Given the description of an element on the screen output the (x, y) to click on. 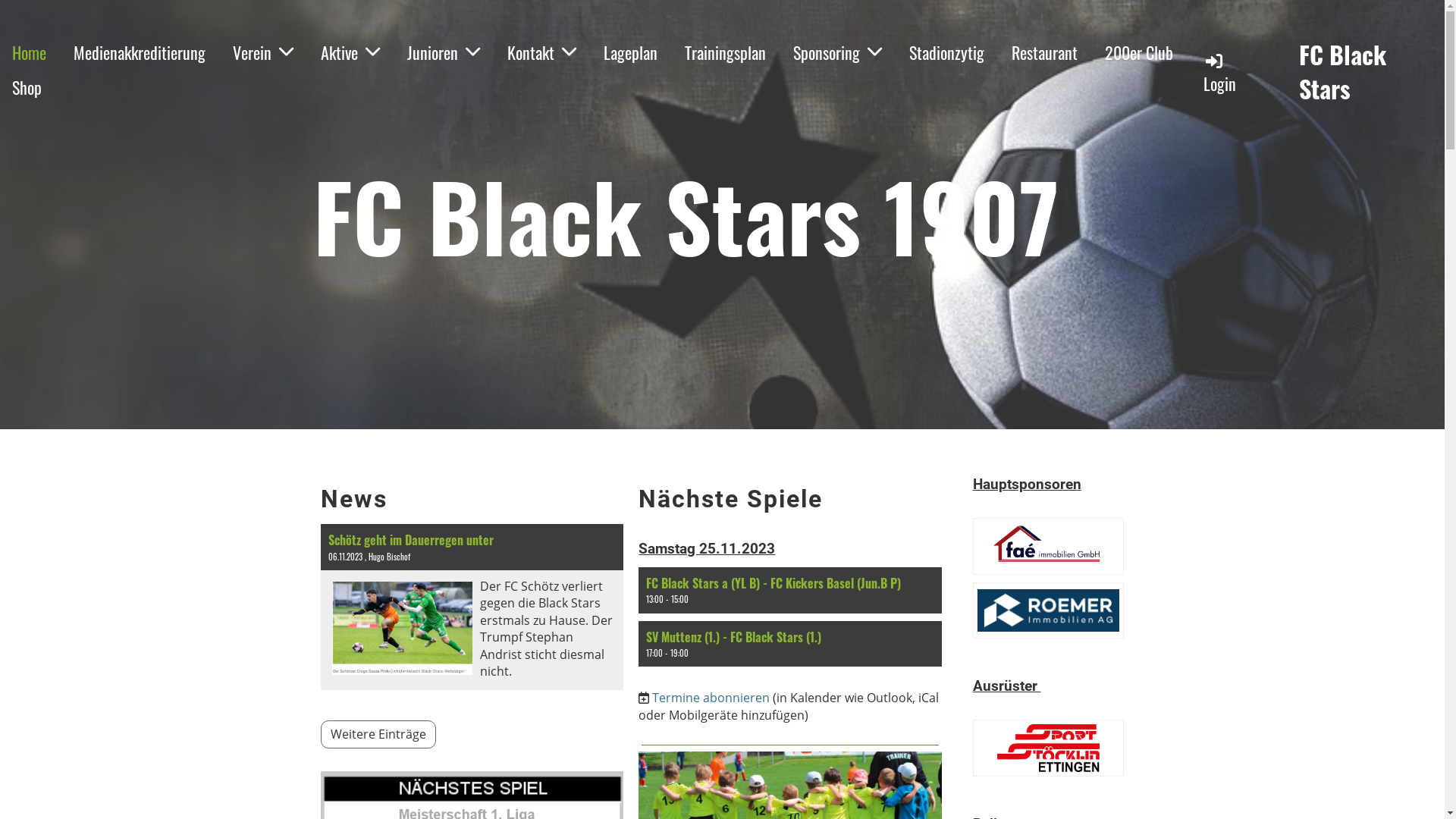
Termine abonnieren Element type: text (710, 697)
Login Element type: text (1219, 71)
Kontakt Element type: text (541, 52)
Stadionzytig Element type: text (946, 52)
Trainingsplan Element type: text (725, 52)
Verein Element type: text (262, 52)
Junioren Element type: text (443, 52)
SV Muttenz (1.) - FC Black Stars (1.)
17:00 - 19:00 Element type: text (789, 644)
Shop Element type: text (26, 87)
Aktive Element type: text (350, 52)
FC Black Stars Element type: text (1368, 71)
Home Element type: text (29, 52)
Restaurant Element type: text (1044, 52)
Medienakkreditierung Element type: text (139, 52)
Sponsoring Element type: text (837, 52)
200er Club Element type: text (1138, 52)
Lageplan Element type: text (630, 52)
